Given the description of an element on the screen output the (x, y) to click on. 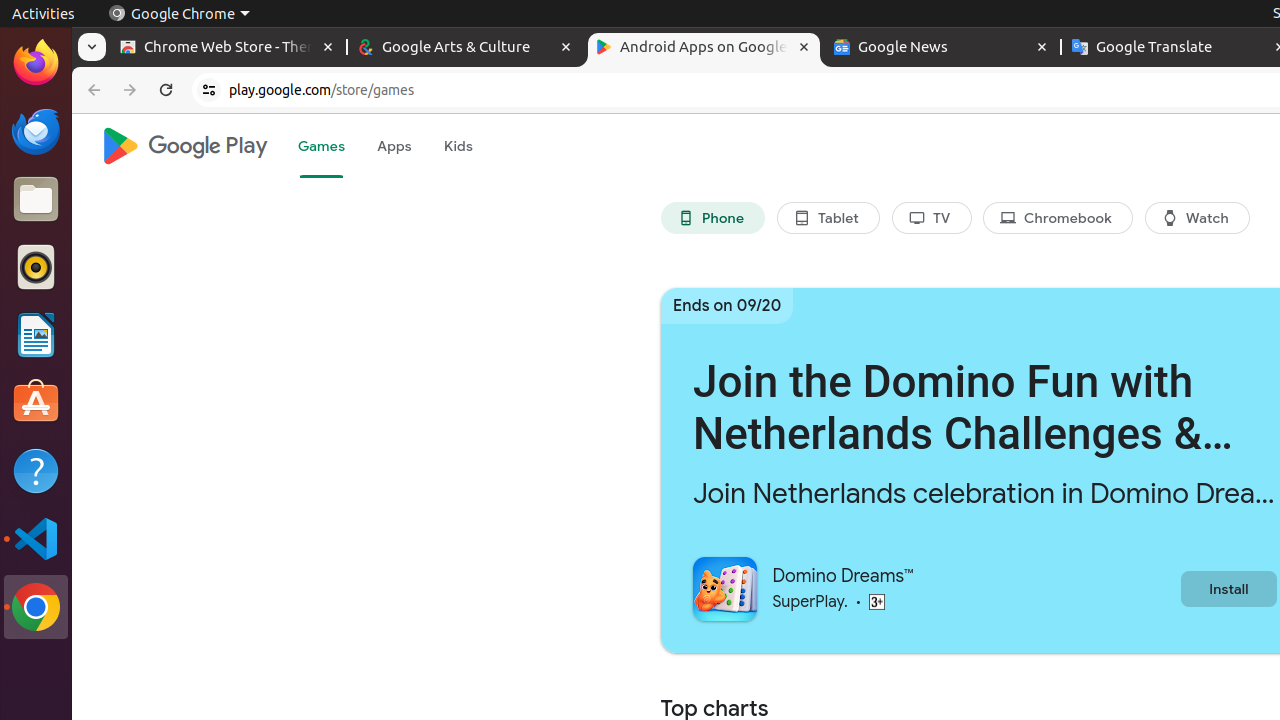
View site information Element type: push-button (209, 90)
Games Element type: page-tab (321, 146)
Reload Element type: push-button (166, 90)
Chromebook Element type: link (1058, 218)
Google Chrome Element type: menu (179, 13)
